Given the description of an element on the screen output the (x, y) to click on. 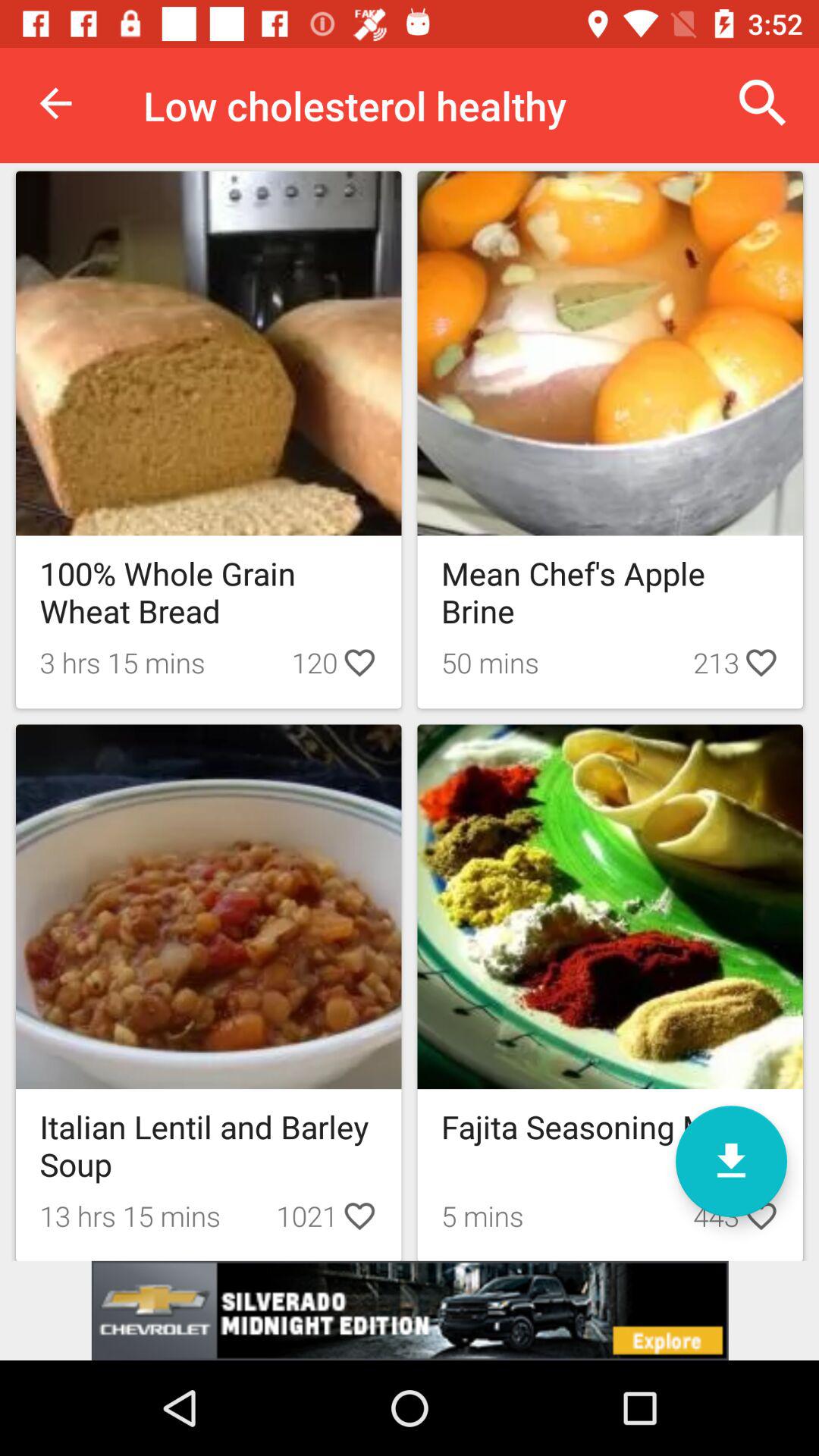
download option (731, 1161)
